Given the description of an element on the screen output the (x, y) to click on. 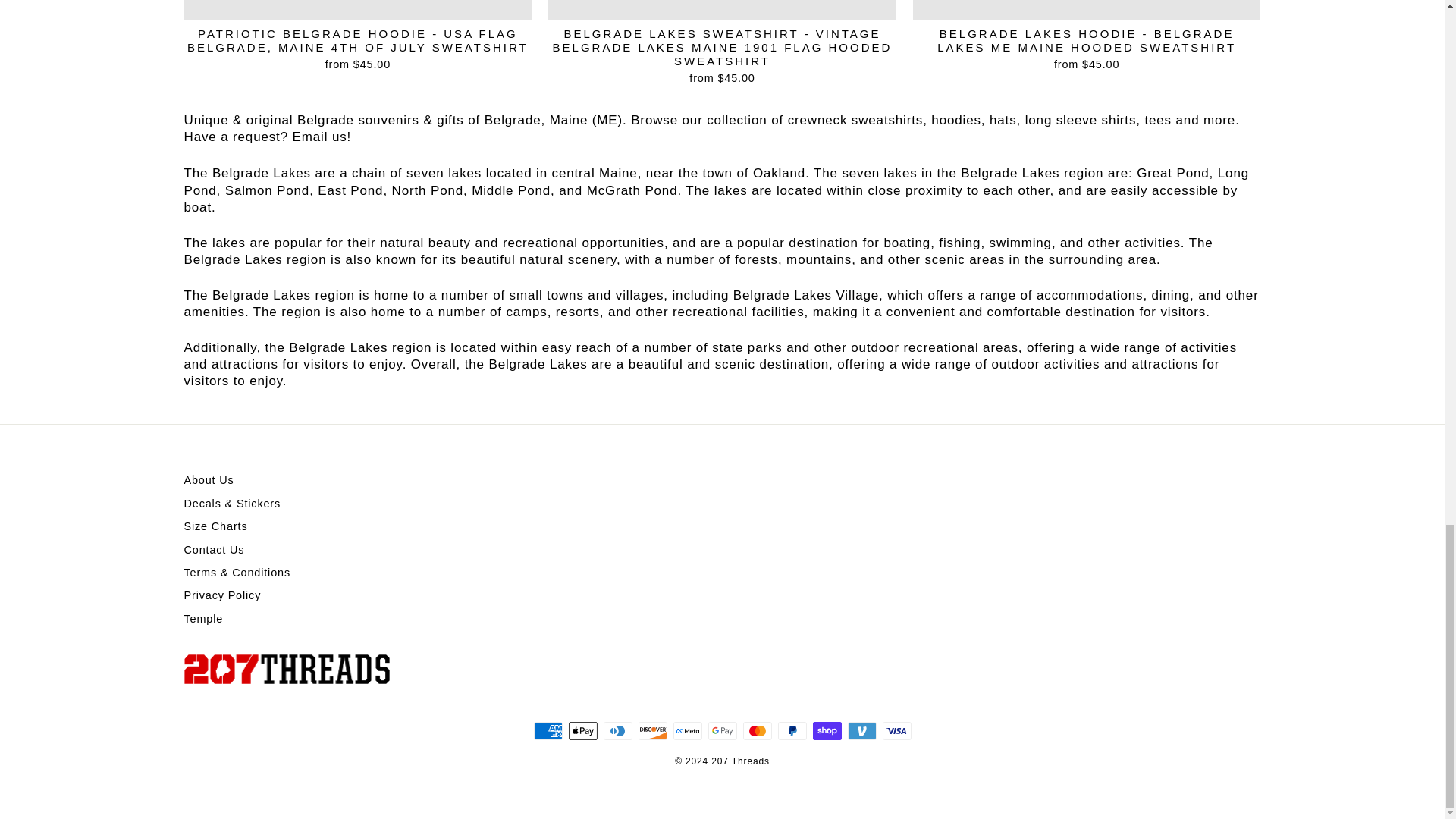
Apple Pay (582, 730)
Shop Pay (826, 730)
American Express (548, 730)
Discover (652, 730)
Google Pay (721, 730)
Diners Club (617, 730)
Mastercard (756, 730)
Visa (896, 730)
PayPal (791, 730)
Venmo (861, 730)
Meta Pay (686, 730)
